Given the description of an element on the screen output the (x, y) to click on. 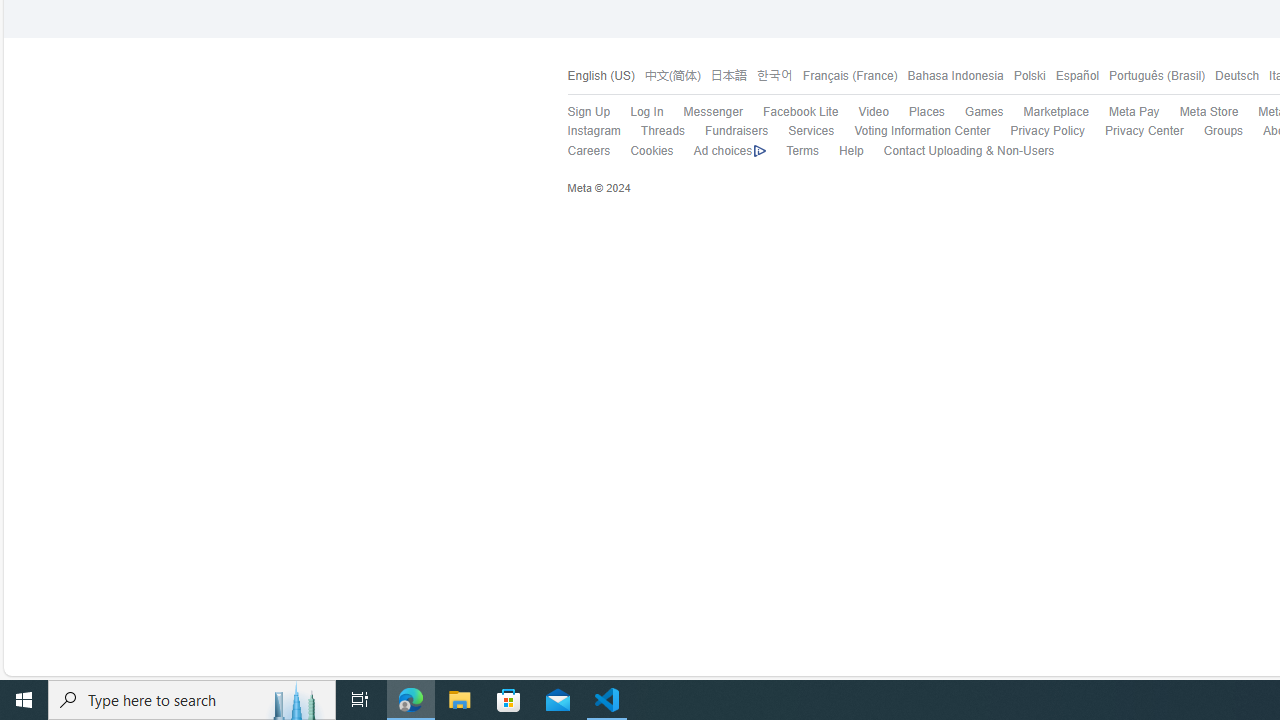
Groups (1223, 130)
Facebook Lite (790, 112)
Help (851, 150)
Bahasa Indonesia (950, 75)
Privacy Policy (1037, 131)
Privacy Center (1144, 130)
Sign Up (588, 112)
